Given the description of an element on the screen output the (x, y) to click on. 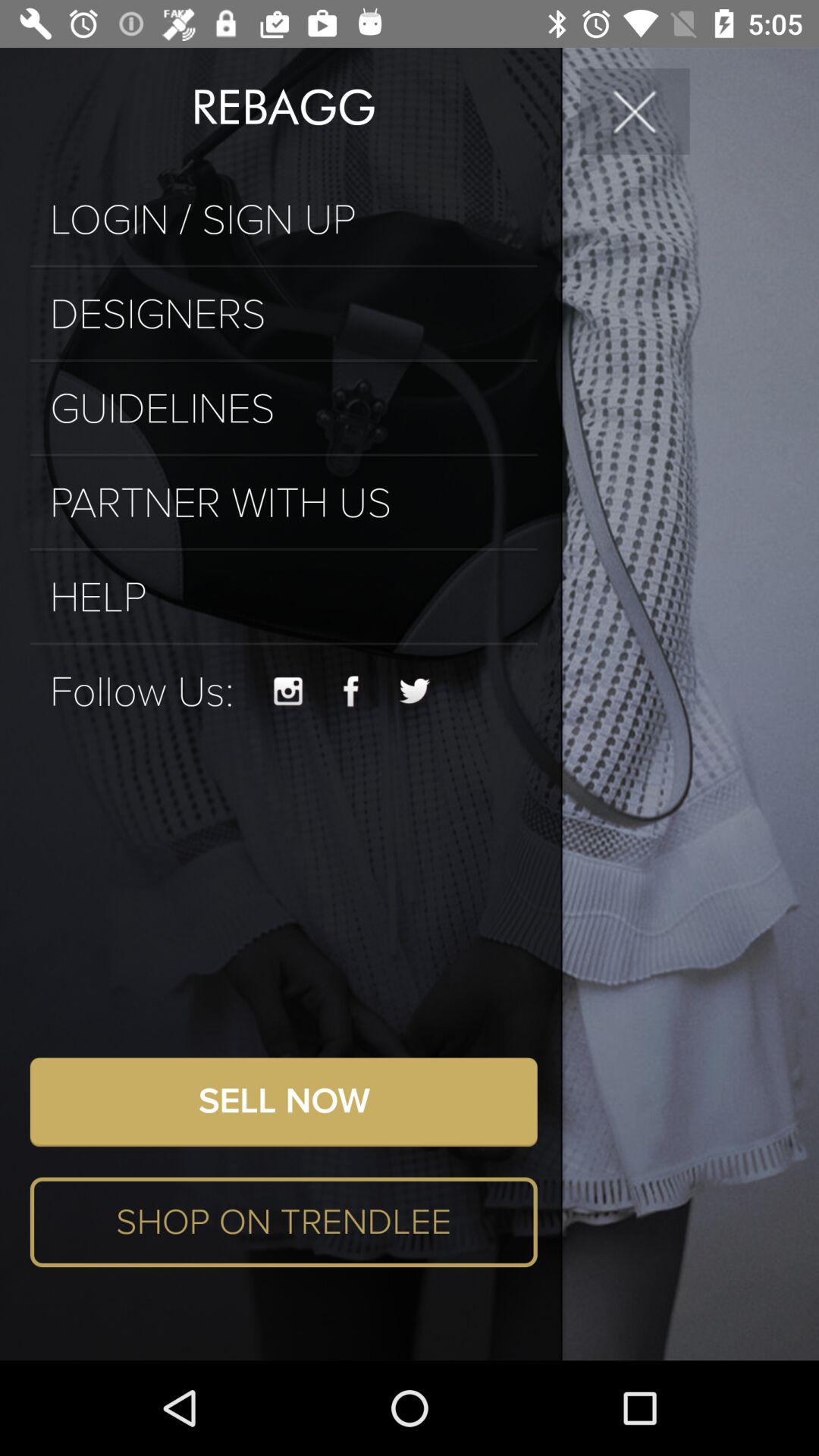
close option (634, 110)
